Given the description of an element on the screen output the (x, y) to click on. 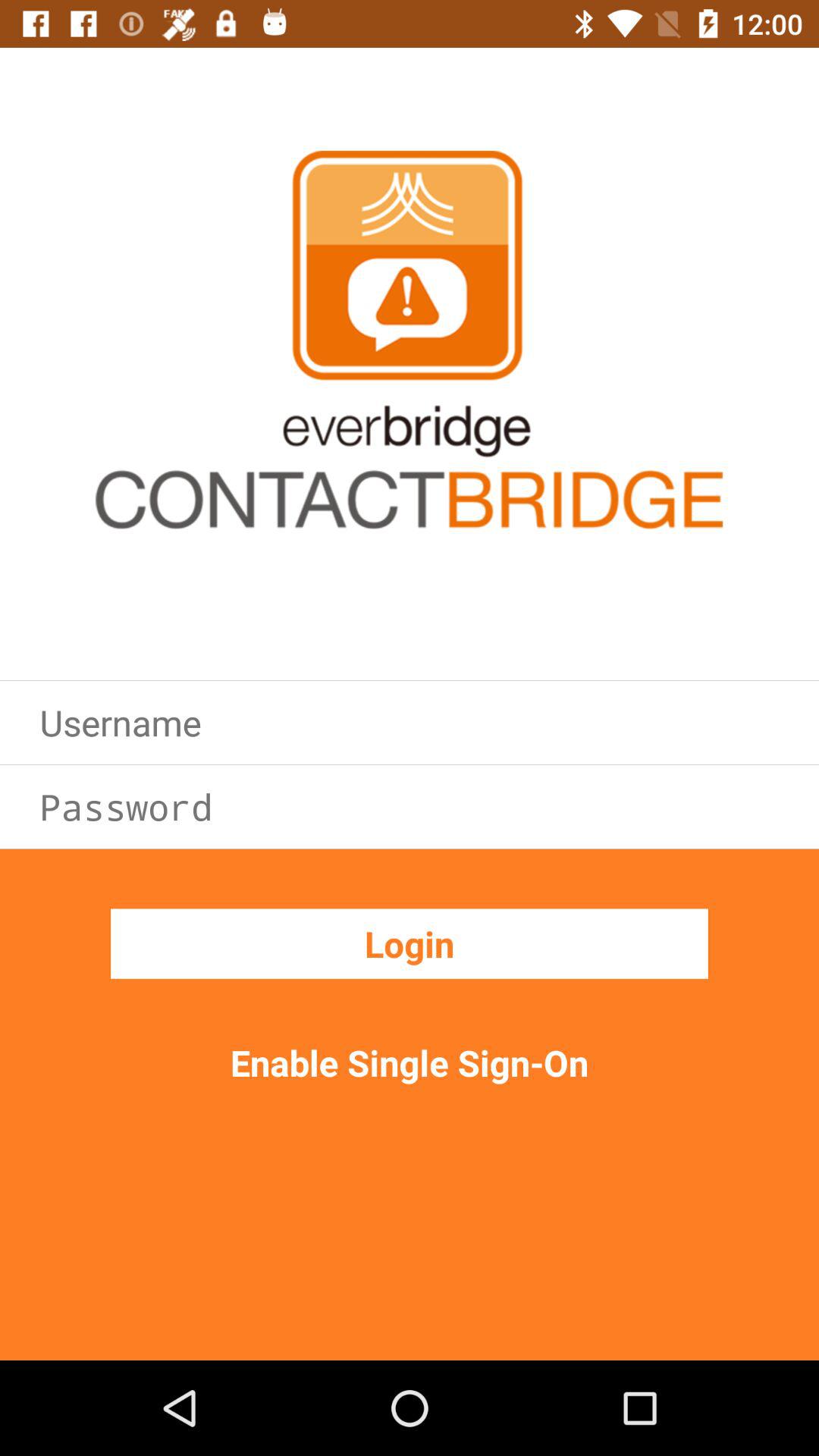
jump until the login (409, 943)
